Given the description of an element on the screen output the (x, y) to click on. 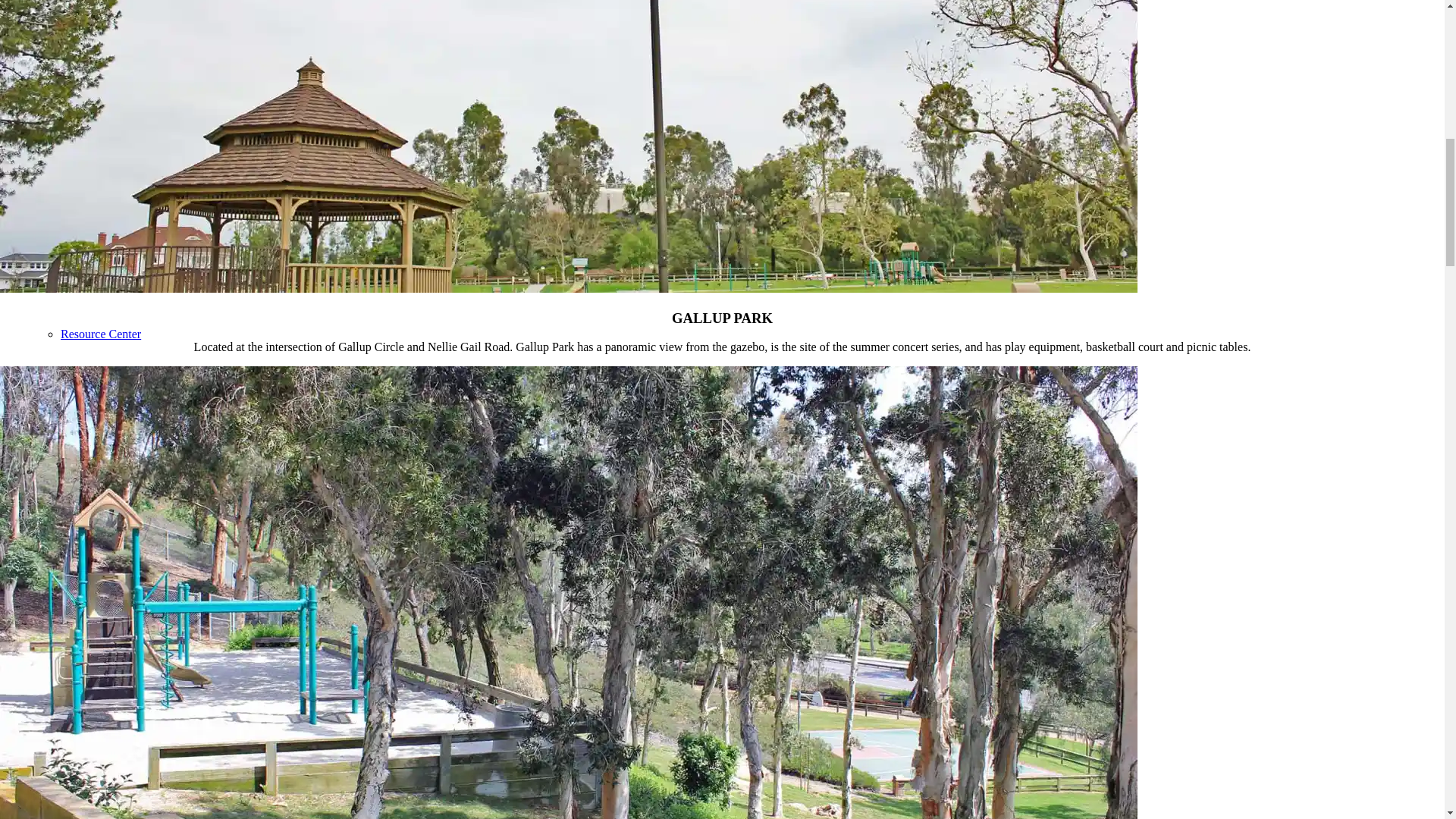
Resource Center (101, 333)
Architectural Review (81, 91)
Pony Express (63, 151)
Community Events (107, 30)
Homeowner Services (81, 212)
Neighbors Helping Neighbors Forum (152, 515)
Search (47, 758)
Home Owners Association Office (142, 273)
